Given the description of an element on the screen output the (x, y) to click on. 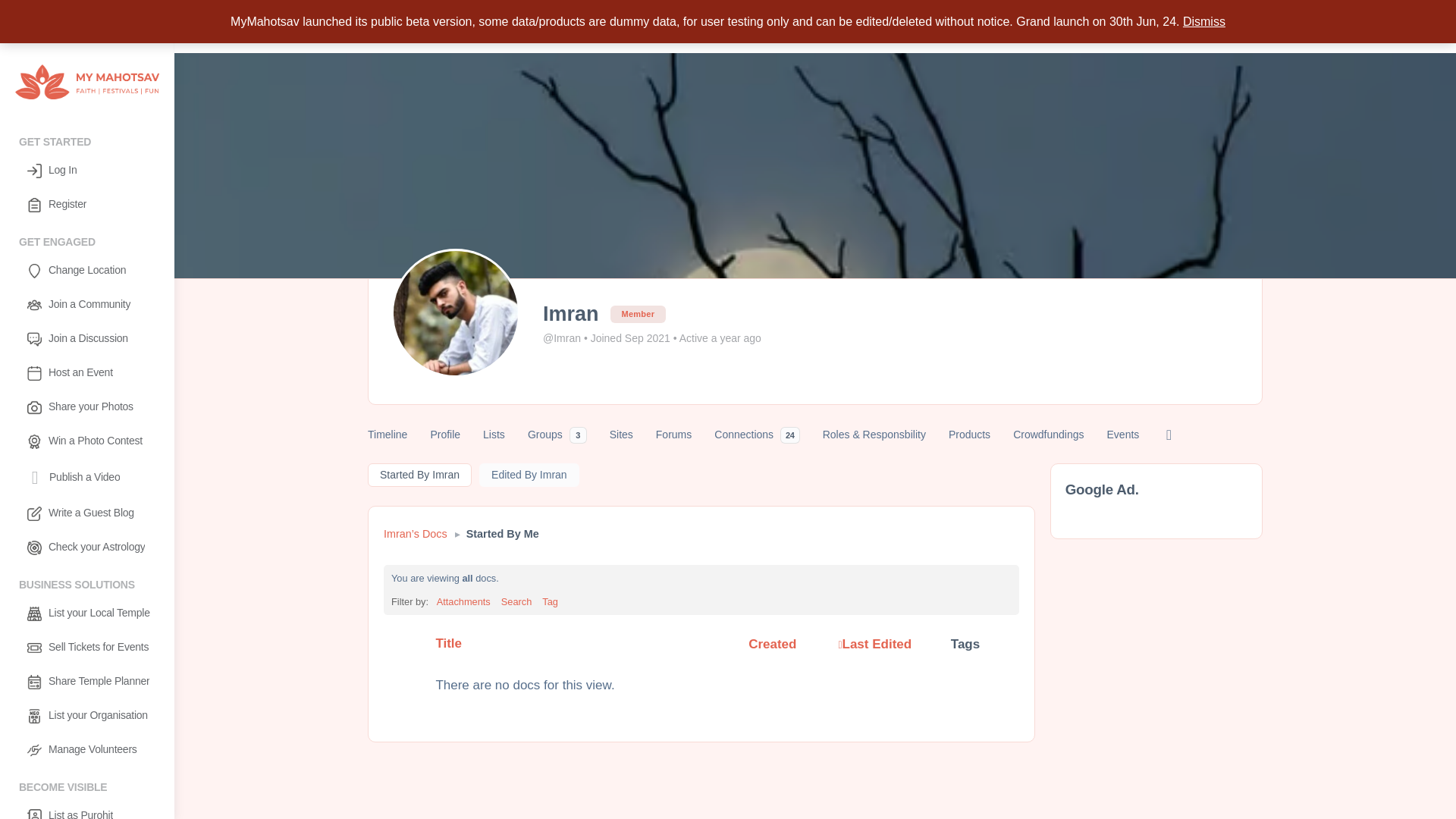
GET ENGAGED (87, 239)
List your Local Temple (86, 613)
Register (86, 204)
Share your Photos (86, 407)
Share Temple Planner (86, 682)
Publish a Video (86, 477)
Join a Community (86, 305)
BECOME VISIBLE (87, 785)
Win a Photo Contest (86, 441)
Write a Guest Blog (86, 513)
Join a Discussion (86, 339)
Manage Volunteers (86, 750)
Log In (86, 170)
Help widget launcher (1410, 740)
BUSINESS SOLUTIONS (87, 582)
